Given the description of an element on the screen output the (x, y) to click on. 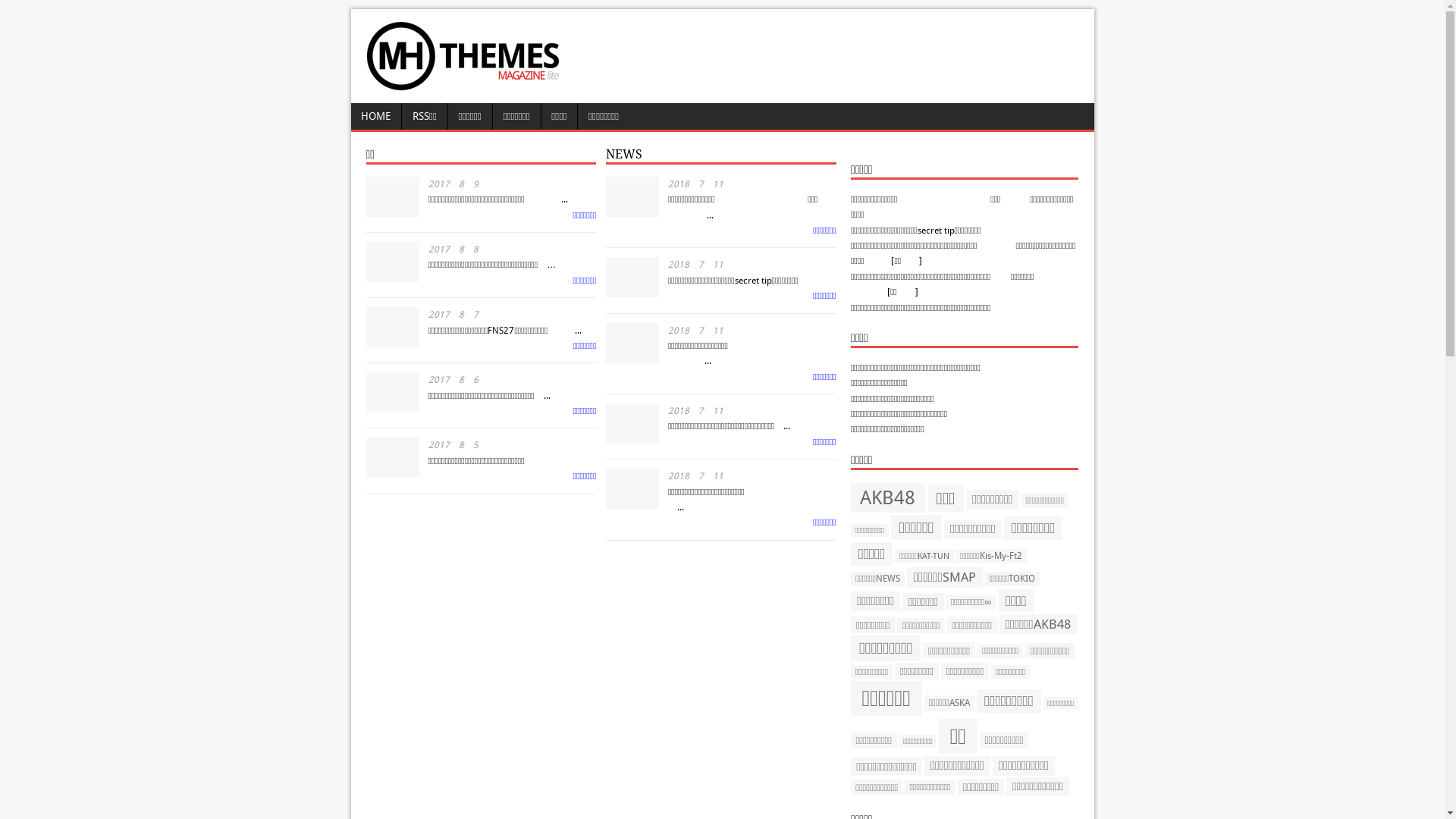
HOME Element type: text (375, 116)
AKB48 Element type: text (887, 497)
